Given the description of an element on the screen output the (x, y) to click on. 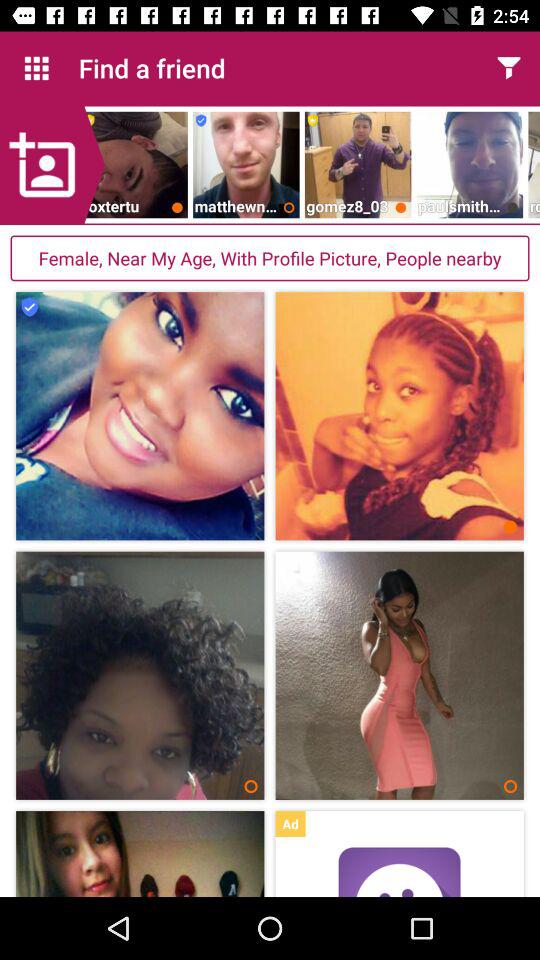
switch autoplay option (399, 872)
